Given the description of an element on the screen output the (x, y) to click on. 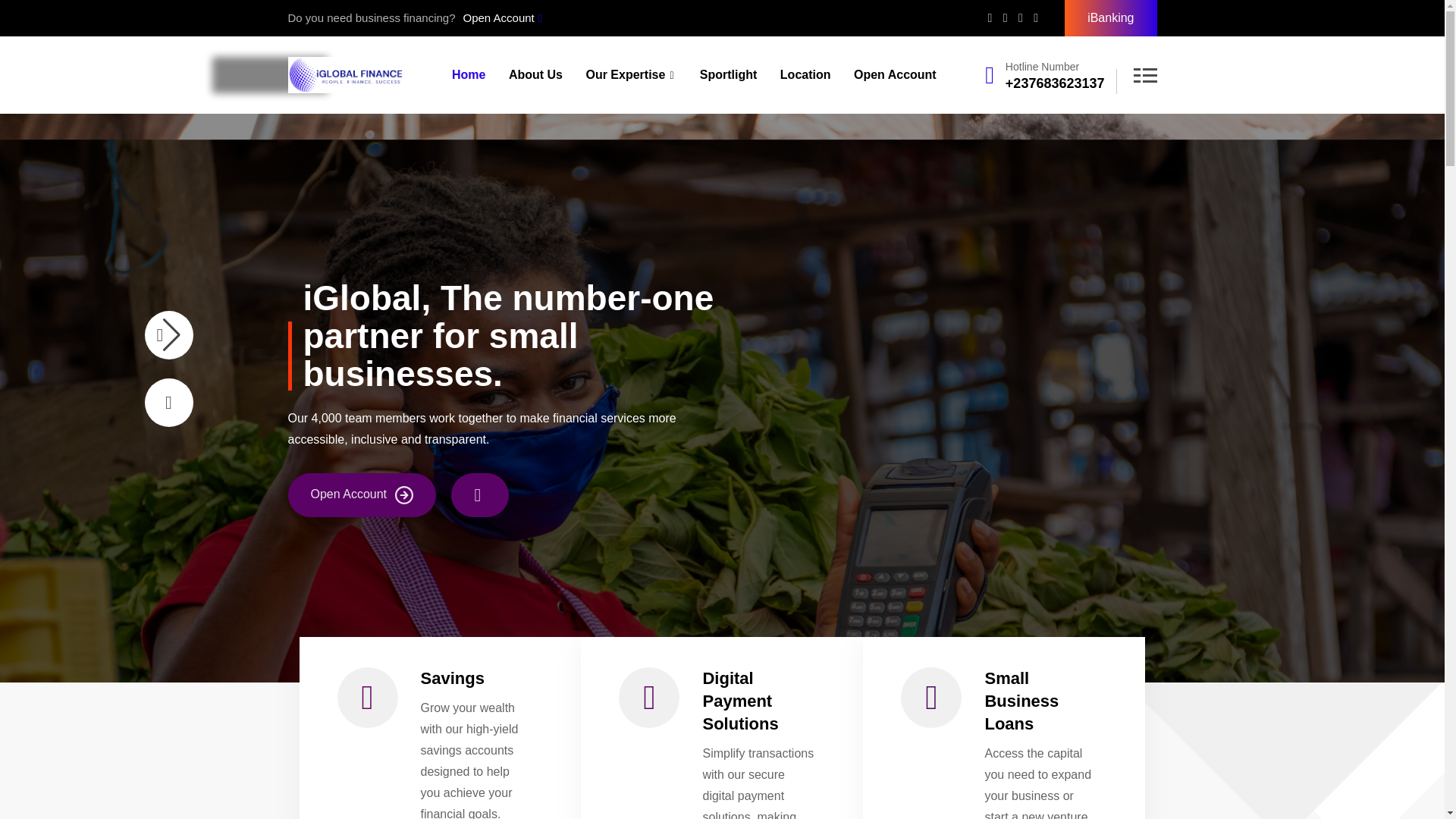
iBanking (1110, 18)
Open Account (502, 17)
Location (805, 74)
Sportlight (728, 74)
About Us (535, 74)
Open Account (895, 74)
Our Expertise (630, 74)
